Given the description of an element on the screen output the (x, y) to click on. 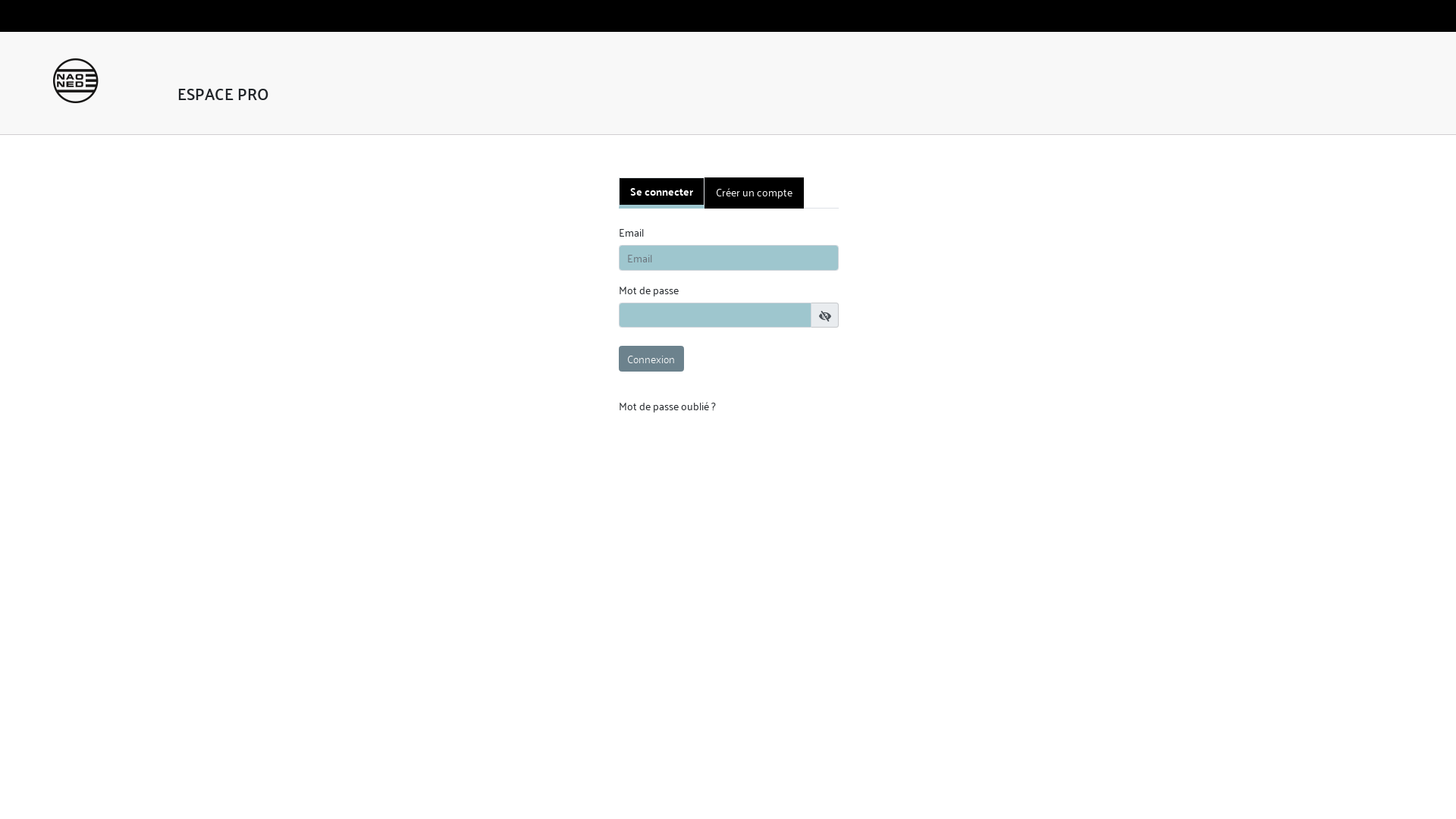
Connexion Element type: text (651, 358)
Se connecter Element type: text (661, 192)
retour au site Naoned eyewear Element type: hover (75, 80)
